Given the description of an element on the screen output the (x, y) to click on. 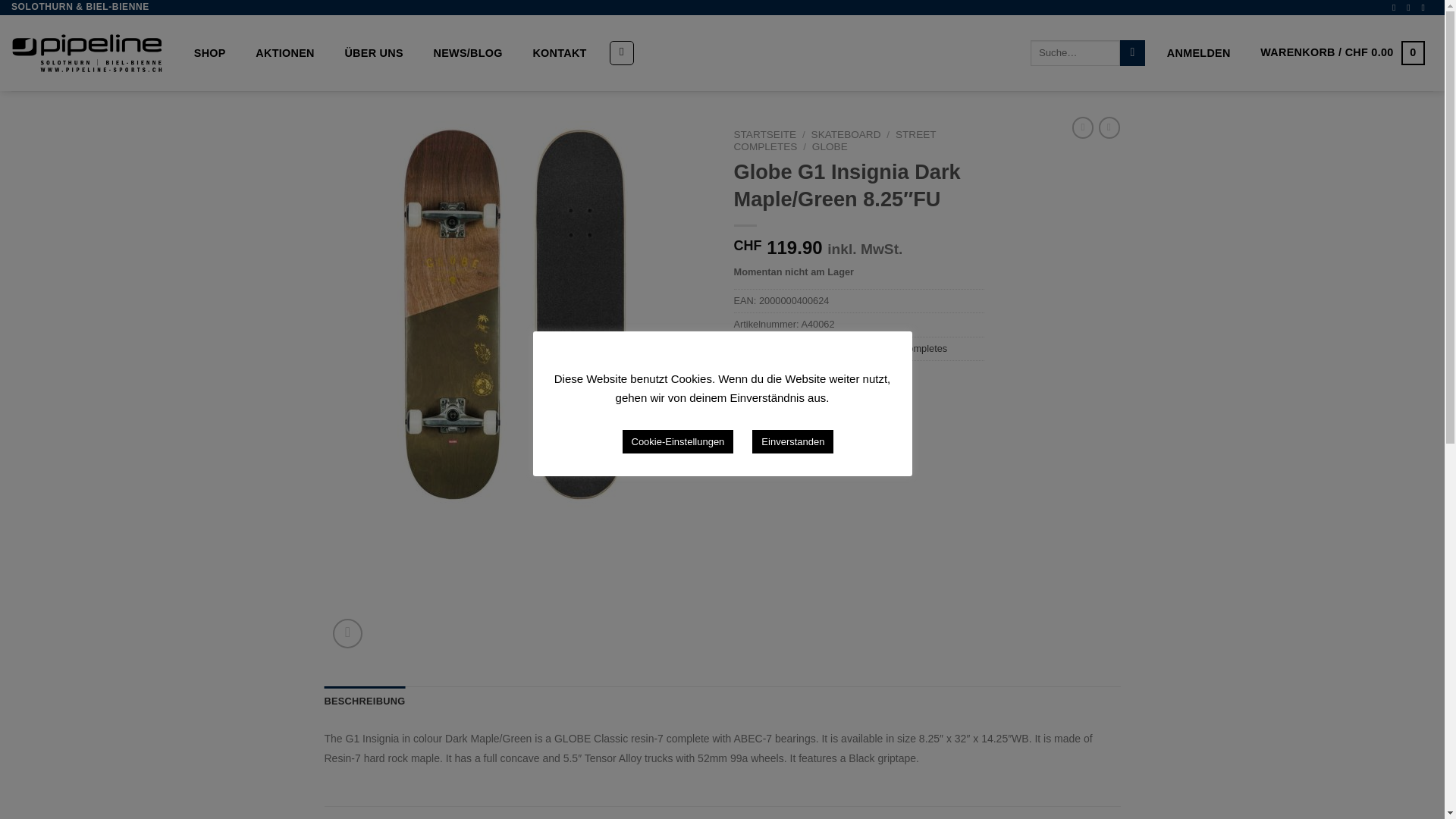
AKTIONEN (285, 53)
SKATEBOARD (845, 134)
Suche (1131, 53)
STARTSEITE (764, 134)
Globe (799, 348)
STREET COMPLETES (834, 140)
Anmelden (1198, 53)
Skateboard (841, 348)
Globe (799, 371)
KONTAKT (559, 53)
